Given the description of an element on the screen output the (x, y) to click on. 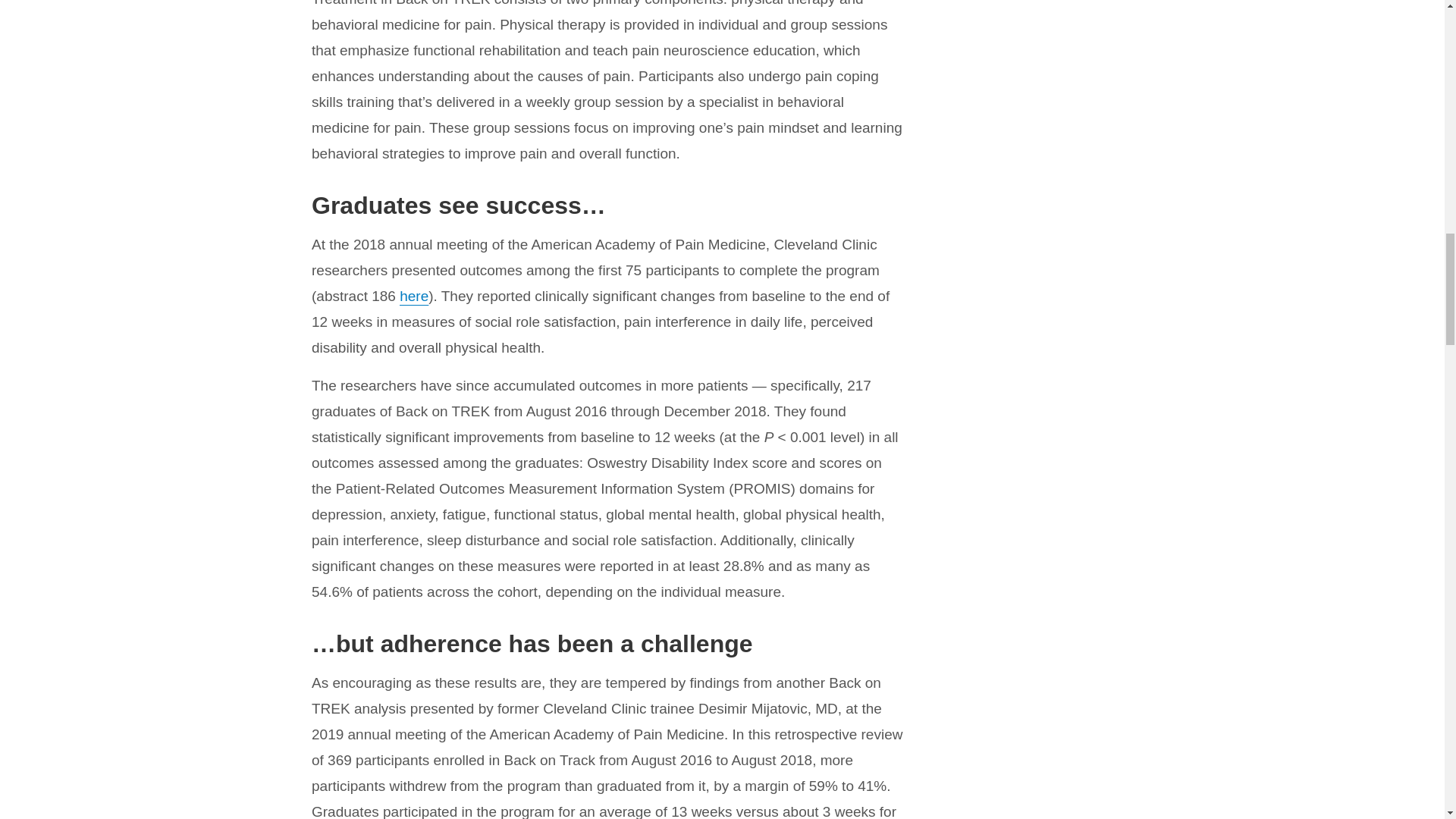
here (413, 295)
